Given the description of an element on the screen output the (x, y) to click on. 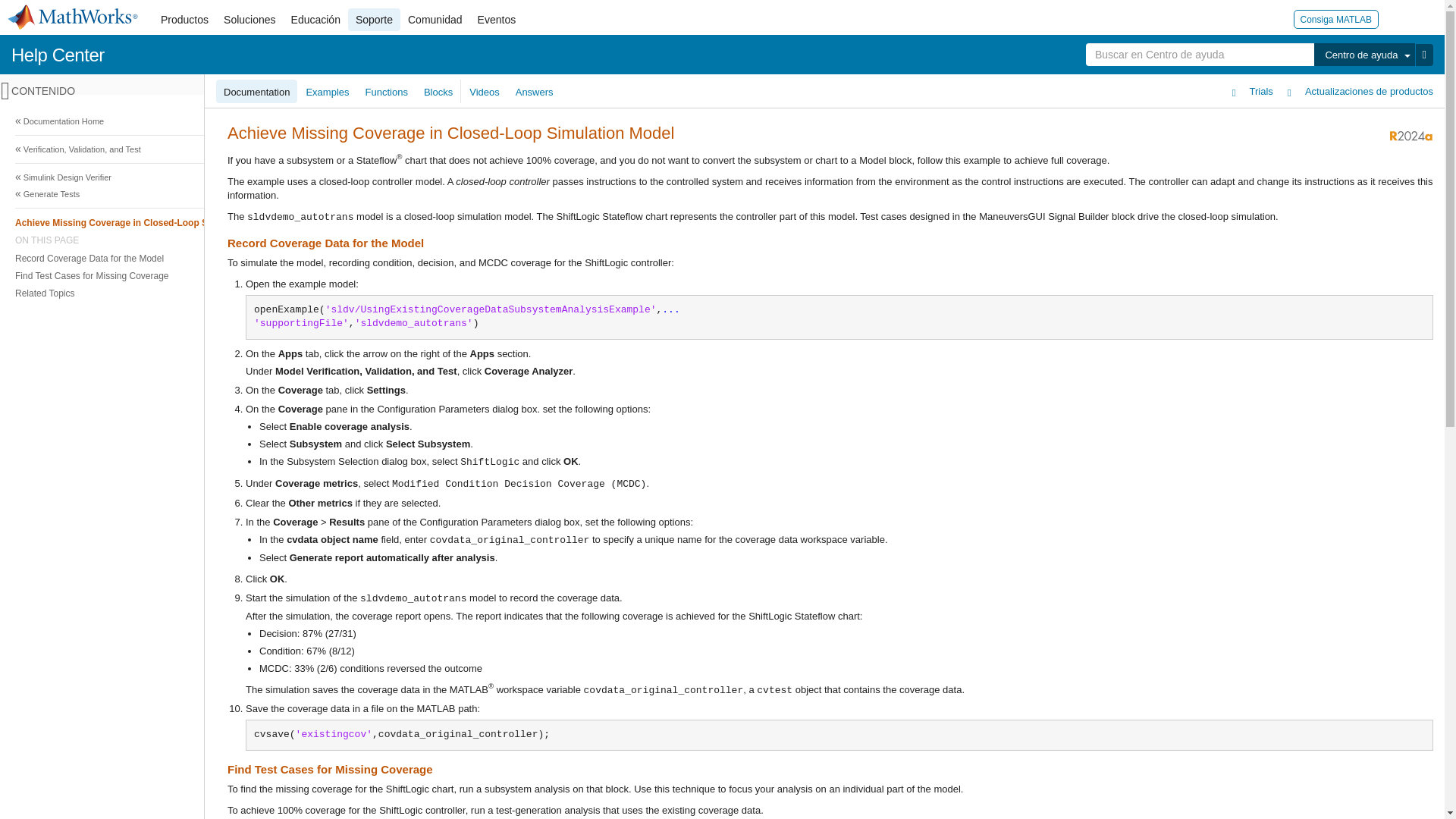
Comunidad (435, 19)
Soluciones (249, 19)
Eventos (497, 19)
Achieve Missing Coverage in Closed-Loop Simulation Model (718, 221)
Related Topics (718, 293)
Help Center (57, 54)
Productos (183, 19)
Centro de ayuda (1363, 54)
Find Test Cases for Missing Coverage (718, 275)
Examples (327, 91)
Generate Tests (720, 193)
Verification, Validation, and Test (720, 149)
Simulink Design Verifier (720, 176)
